Given the description of an element on the screen output the (x, y) to click on. 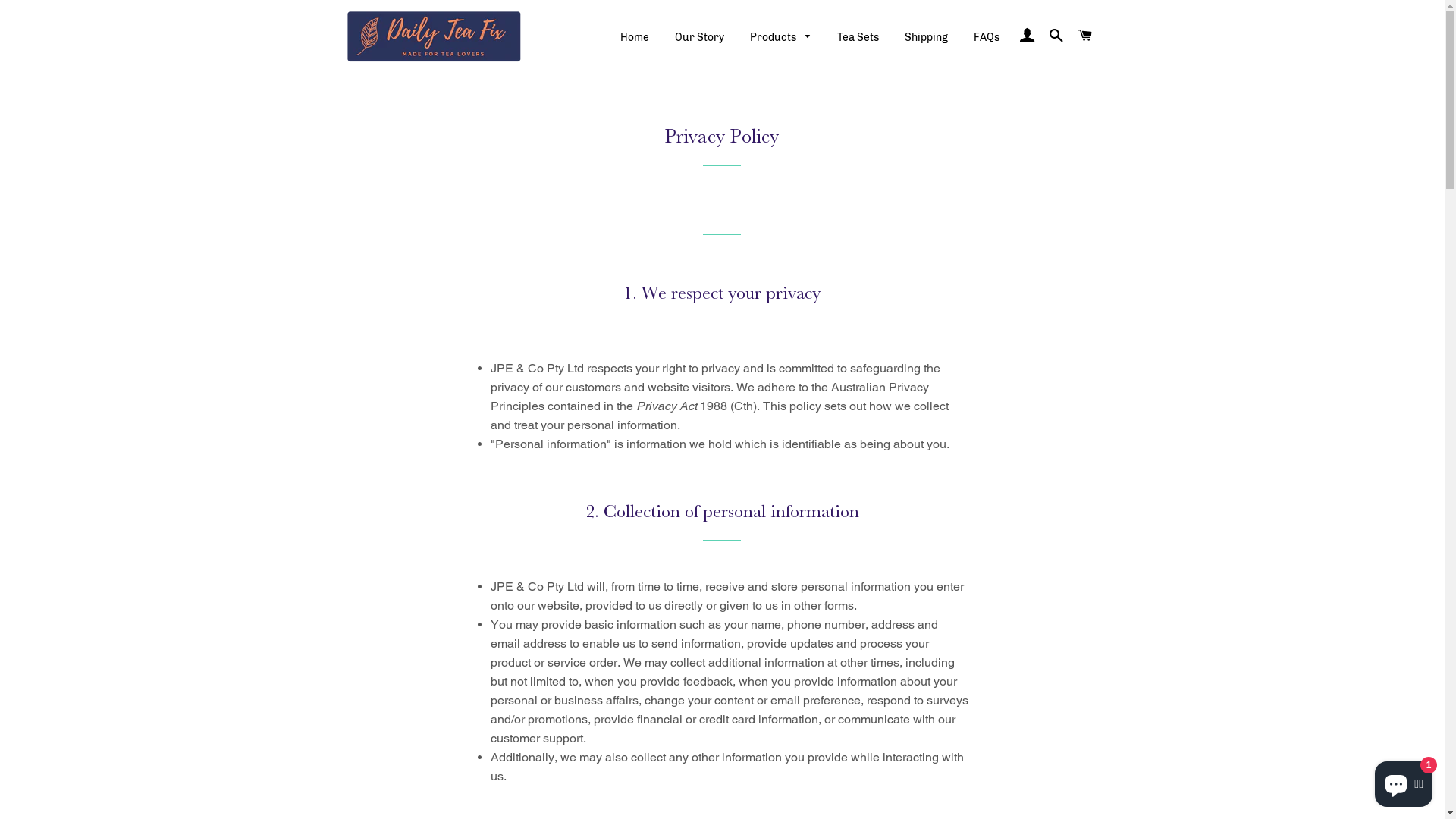
Log In Element type: text (1026, 36)
Products Element type: text (780, 37)
FAQs Element type: text (986, 37)
Shipping Element type: text (926, 37)
Tea Sets Element type: text (857, 37)
Our Story Element type: text (699, 37)
Cart Element type: text (1084, 36)
Home Element type: text (634, 37)
Search Element type: text (1055, 36)
